Given the description of an element on the screen output the (x, y) to click on. 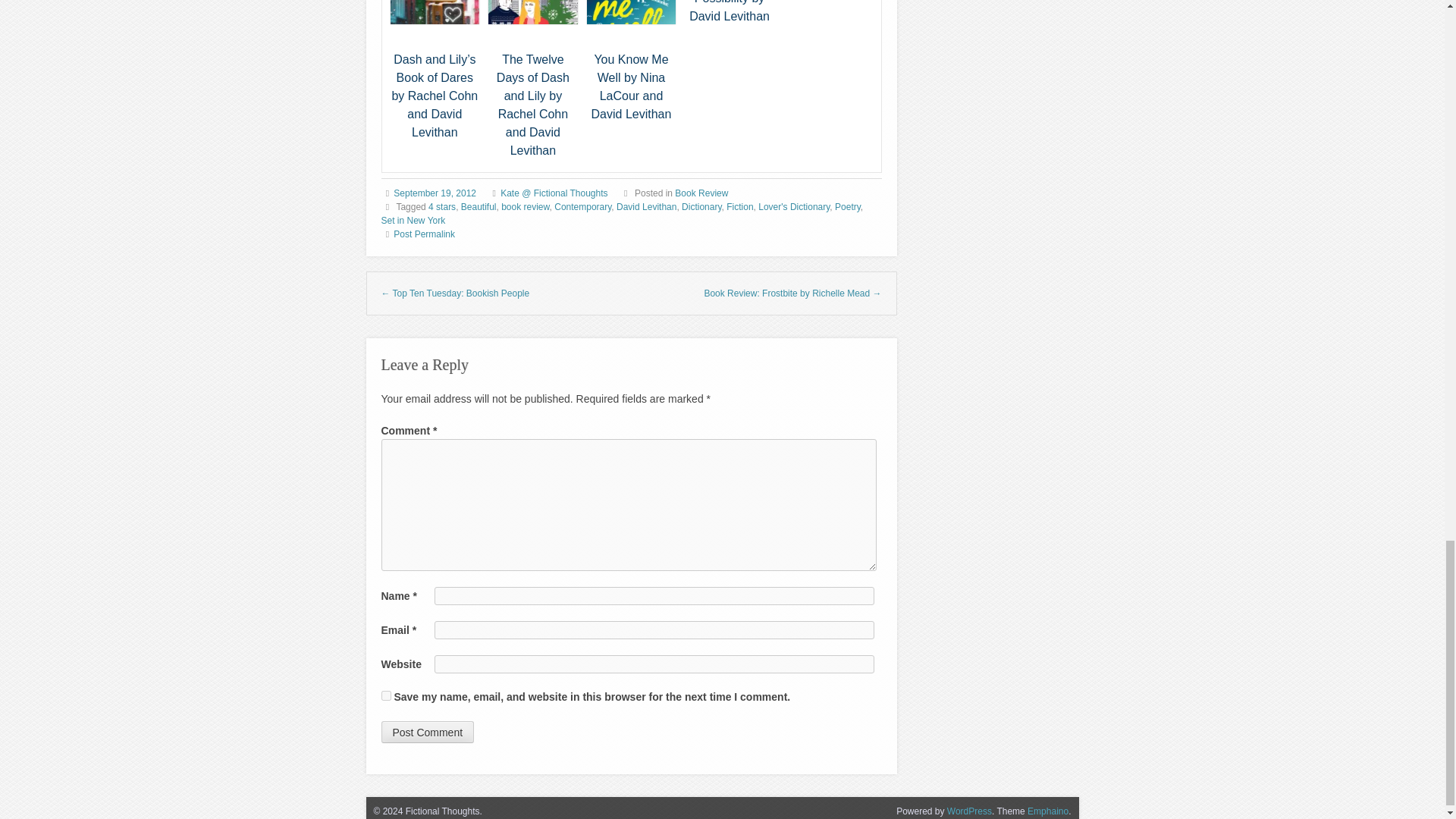
David Levithan (646, 206)
book review (524, 206)
Beautiful (478, 206)
Book Review (701, 193)
yes (385, 696)
15:26 (434, 193)
September 19, 2012 (434, 193)
4 stars (441, 206)
Post Comment (427, 731)
Contemporary (582, 206)
A Semantic Personal Publishing Platform (969, 810)
You Know Me Well by Nina LaCour and David Levithan (631, 86)
